Given the description of an element on the screen output the (x, y) to click on. 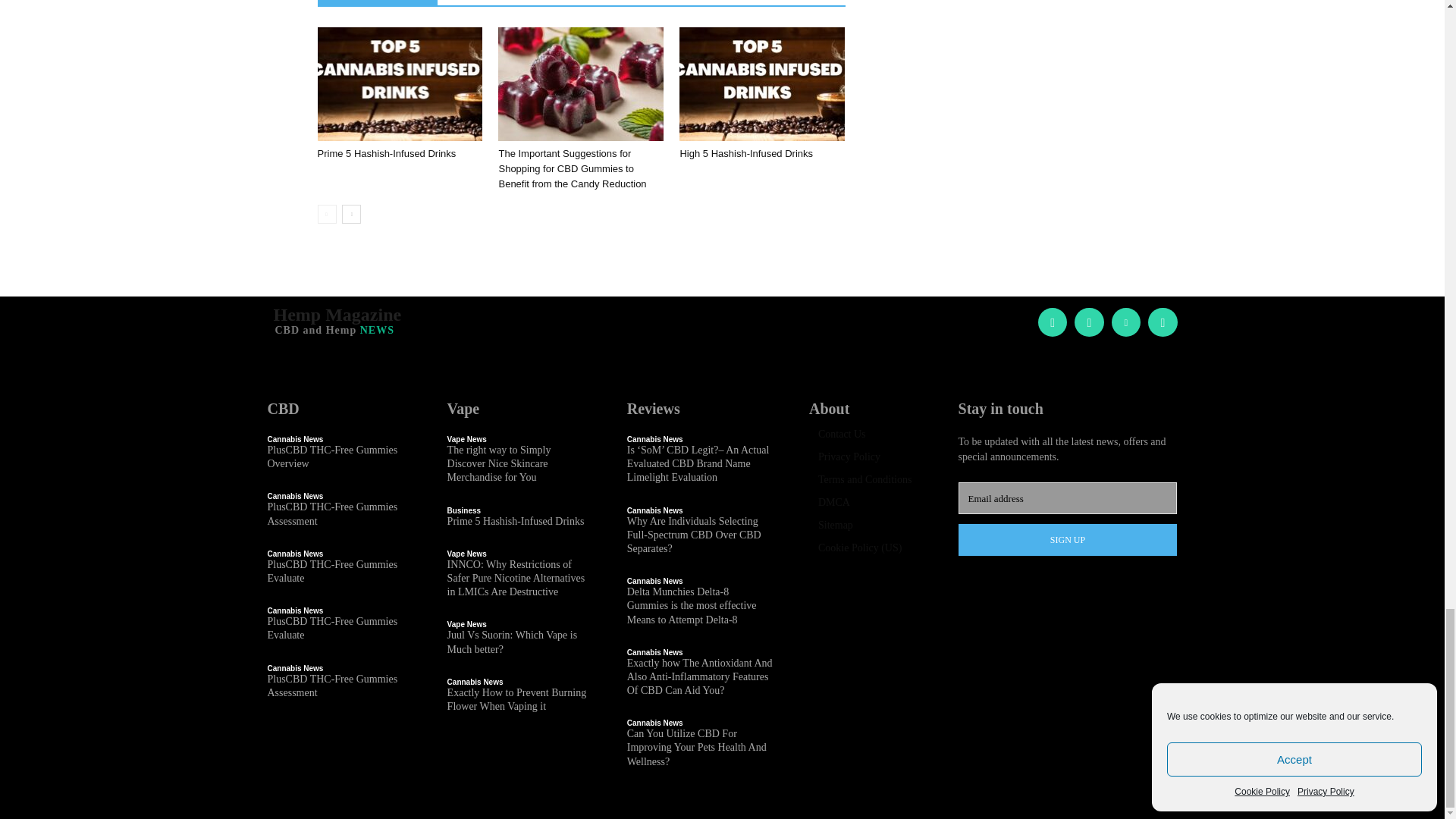
Prime 5 Hashish-Infused Drinks (399, 83)
High 5 Hashish-Infused Drinks (745, 153)
High 5 Hashish-Infused Drinks (761, 83)
Prime 5 Hashish-Infused Drinks (386, 153)
